Given the description of an element on the screen output the (x, y) to click on. 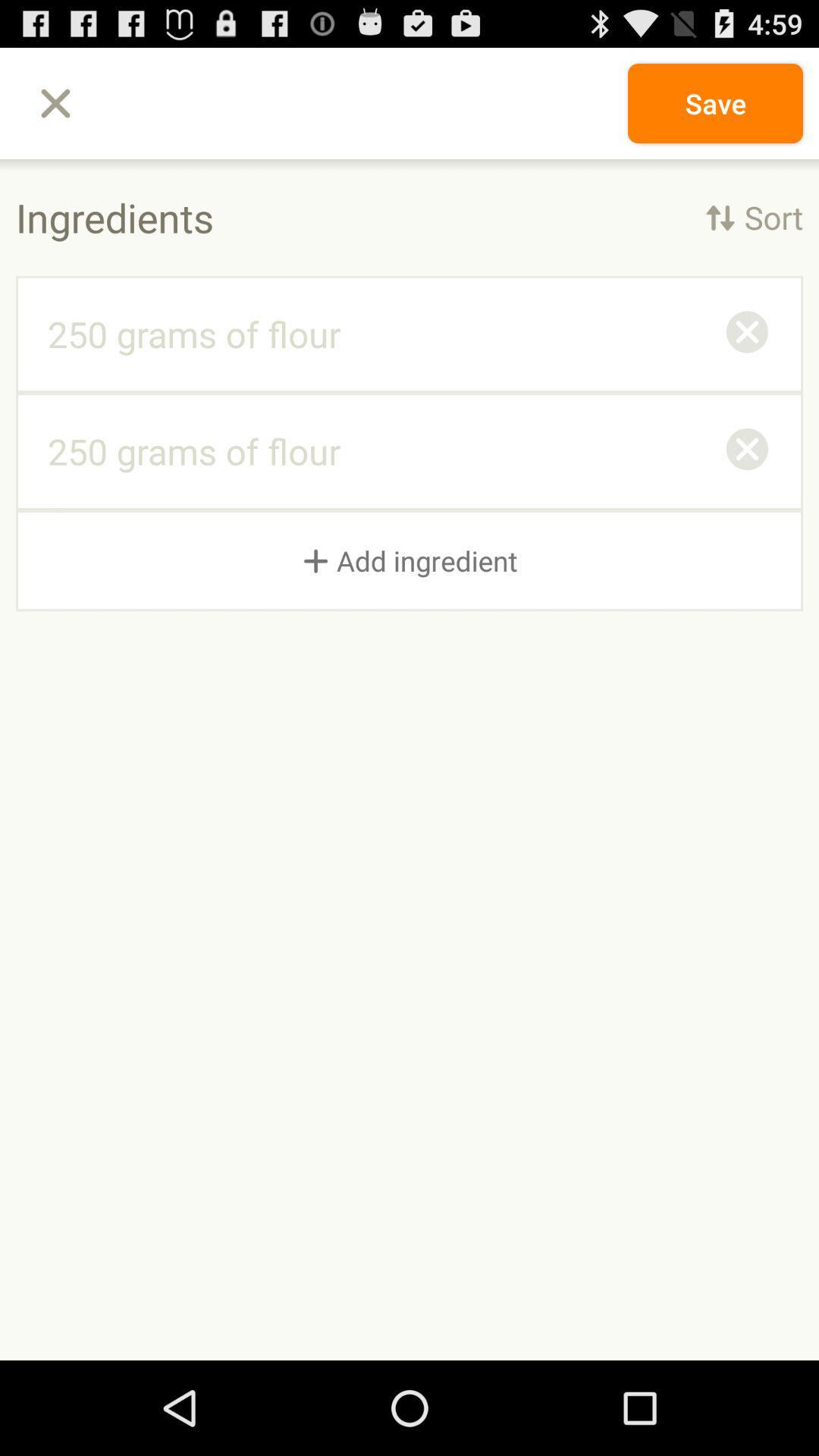
turn on item at the top left corner (55, 103)
